Given the description of an element on the screen output the (x, y) to click on. 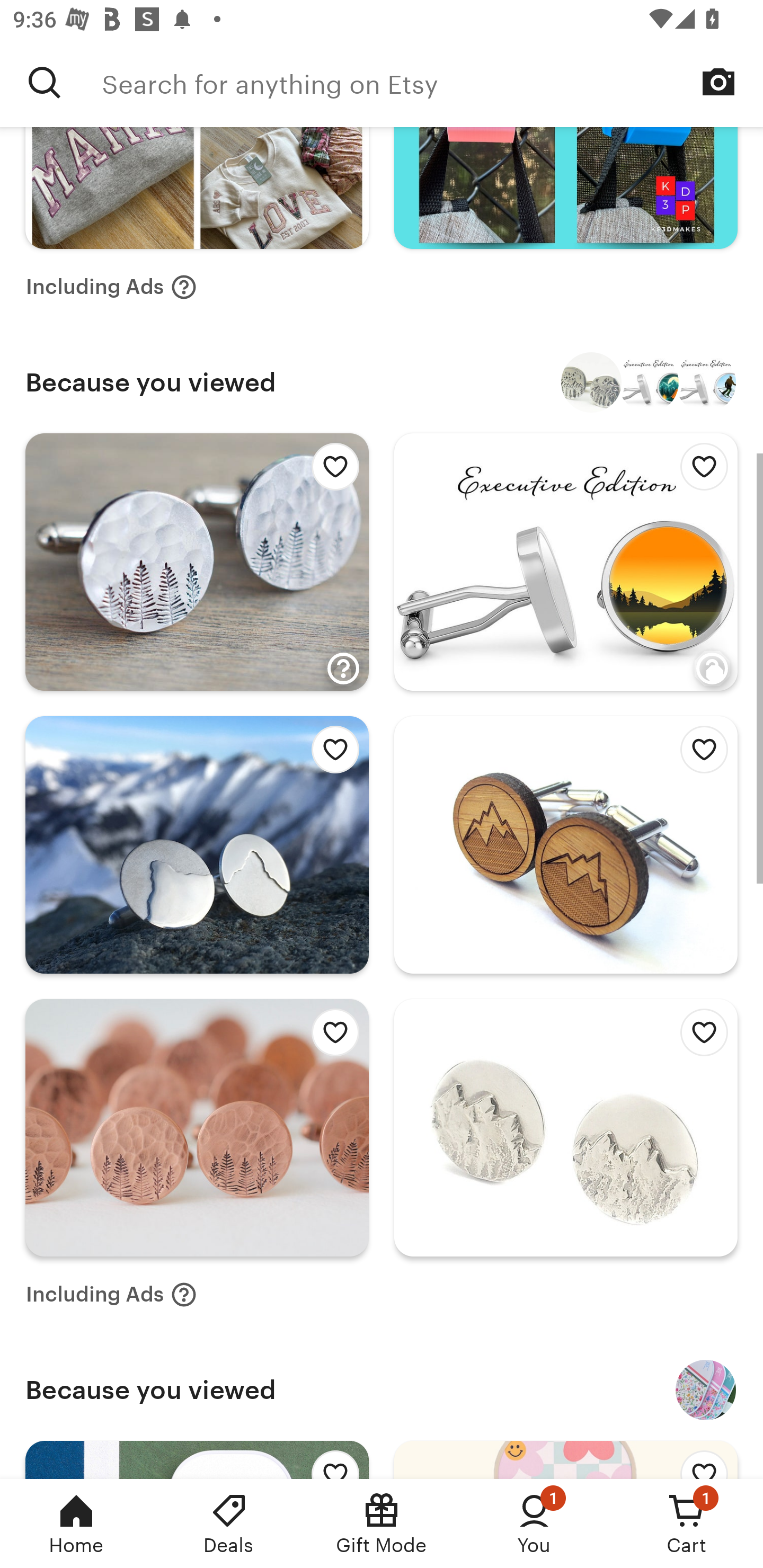
Search for anything on Etsy (44, 82)
Search by image (718, 81)
Search for anything on Etsy (432, 82)
Including Ads (111, 286)
Including Ads (111, 1293)
Flower Preppy Pickleball Paddle (705, 1389)
Deals (228, 1523)
Gift Mode (381, 1523)
You, 1 new notification You (533, 1523)
Cart, 1 new notification Cart (686, 1523)
